Given the description of an element on the screen output the (x, y) to click on. 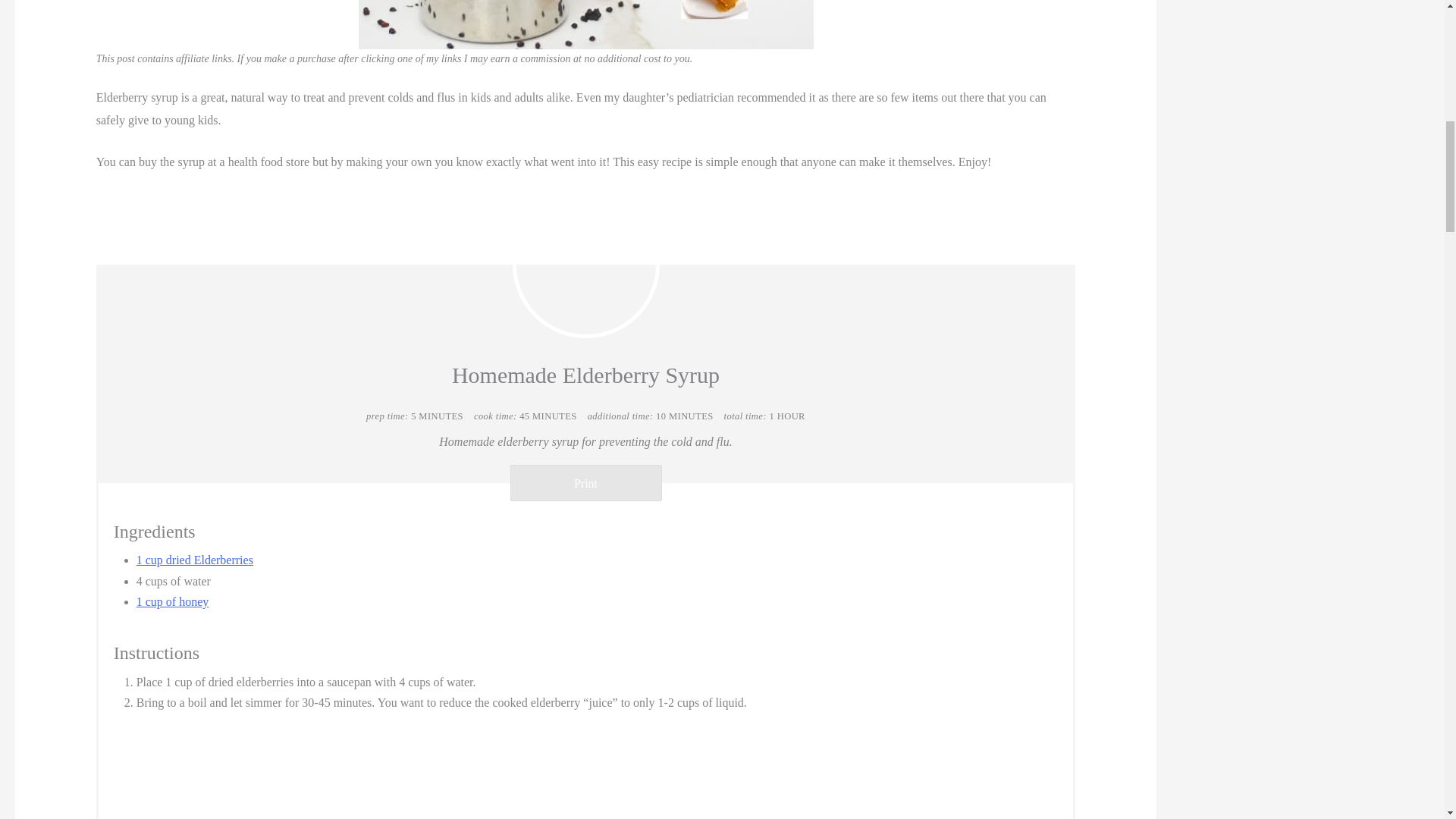
1 cup dried Elderberries (194, 559)
1 cup of honey (172, 601)
Print (585, 483)
